Given the description of an element on the screen output the (x, y) to click on. 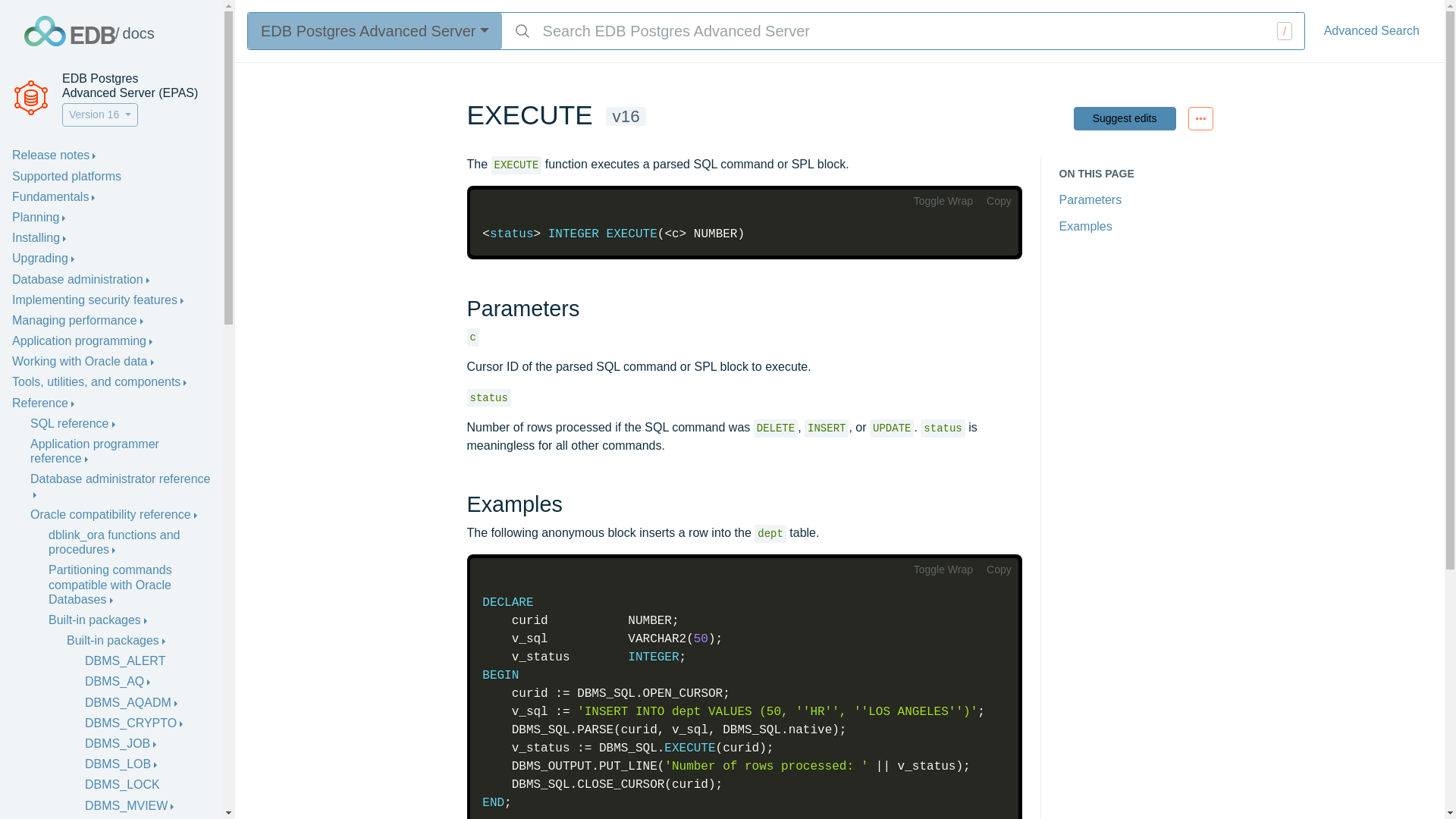
Working with Oracle data (82, 361)
Oracle compatibility reference (113, 514)
EDB Home (69, 30)
Fundamentals (52, 196)
Implementing security features (97, 299)
Version 16  (100, 114)
Database administration (80, 278)
Application programming (81, 340)
Managing performance (76, 320)
Tools, utilities, and components (98, 381)
Application programmer reference (120, 451)
Upgrading (42, 258)
Database administrator reference (120, 485)
Installing (38, 237)
